Given the description of an element on the screen output the (x, y) to click on. 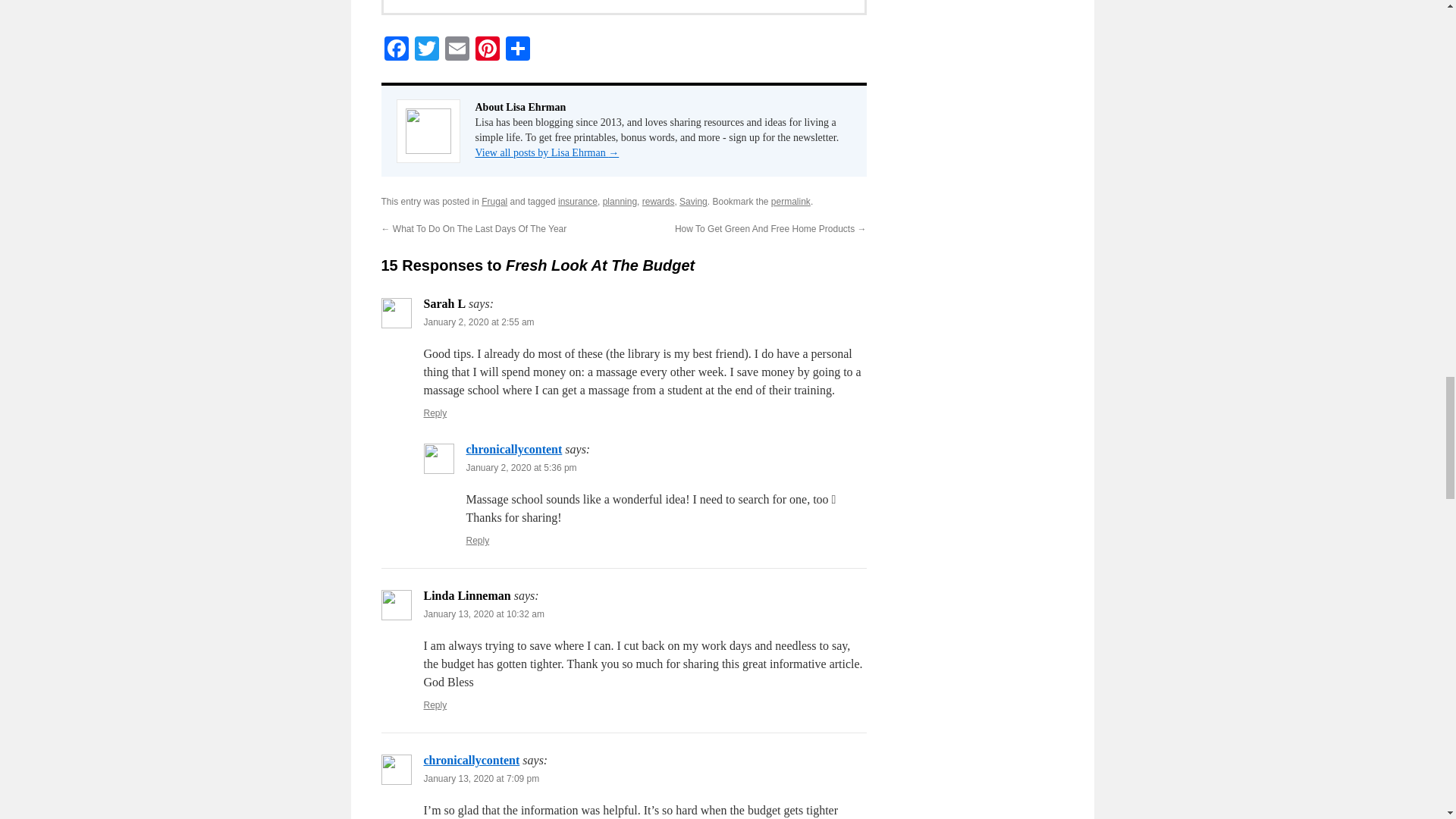
Twitter (425, 50)
Email (456, 50)
Facebook (395, 50)
Facebook (395, 50)
Pinterest (486, 50)
Permalink to Fresh Look At The Budget (790, 201)
Twitter (425, 50)
